Given the description of an element on the screen output the (x, y) to click on. 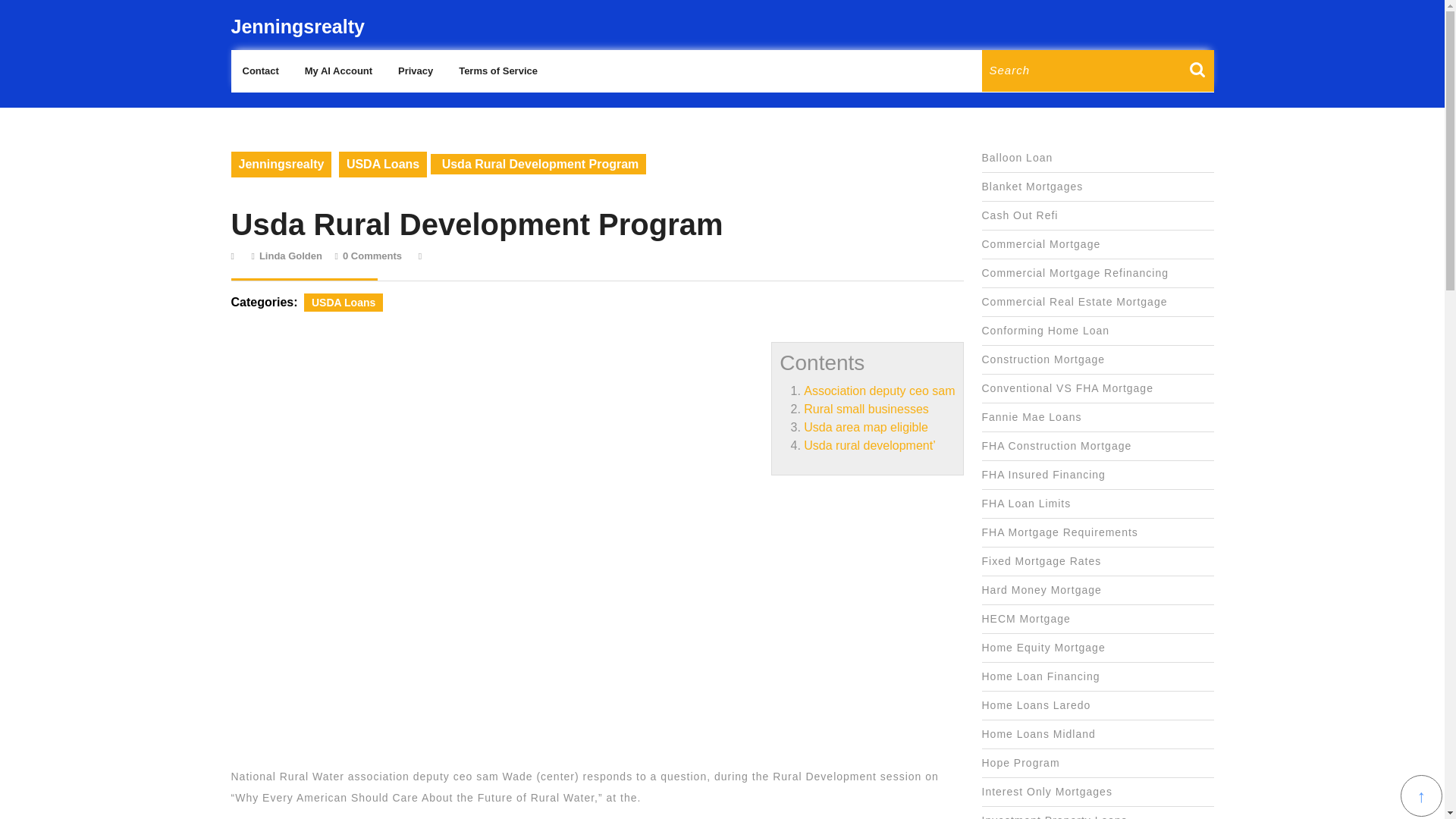
Rural small businesses (865, 408)
My AI Account (339, 70)
Jenningsrealty (297, 25)
Blanket Mortgages (1032, 186)
Commercial Real Estate Mortgage (1074, 301)
Contact (259, 70)
Commercial Mortgage (1040, 244)
Usda area map eligible (865, 427)
Privacy (290, 255)
